Given the description of an element on the screen output the (x, y) to click on. 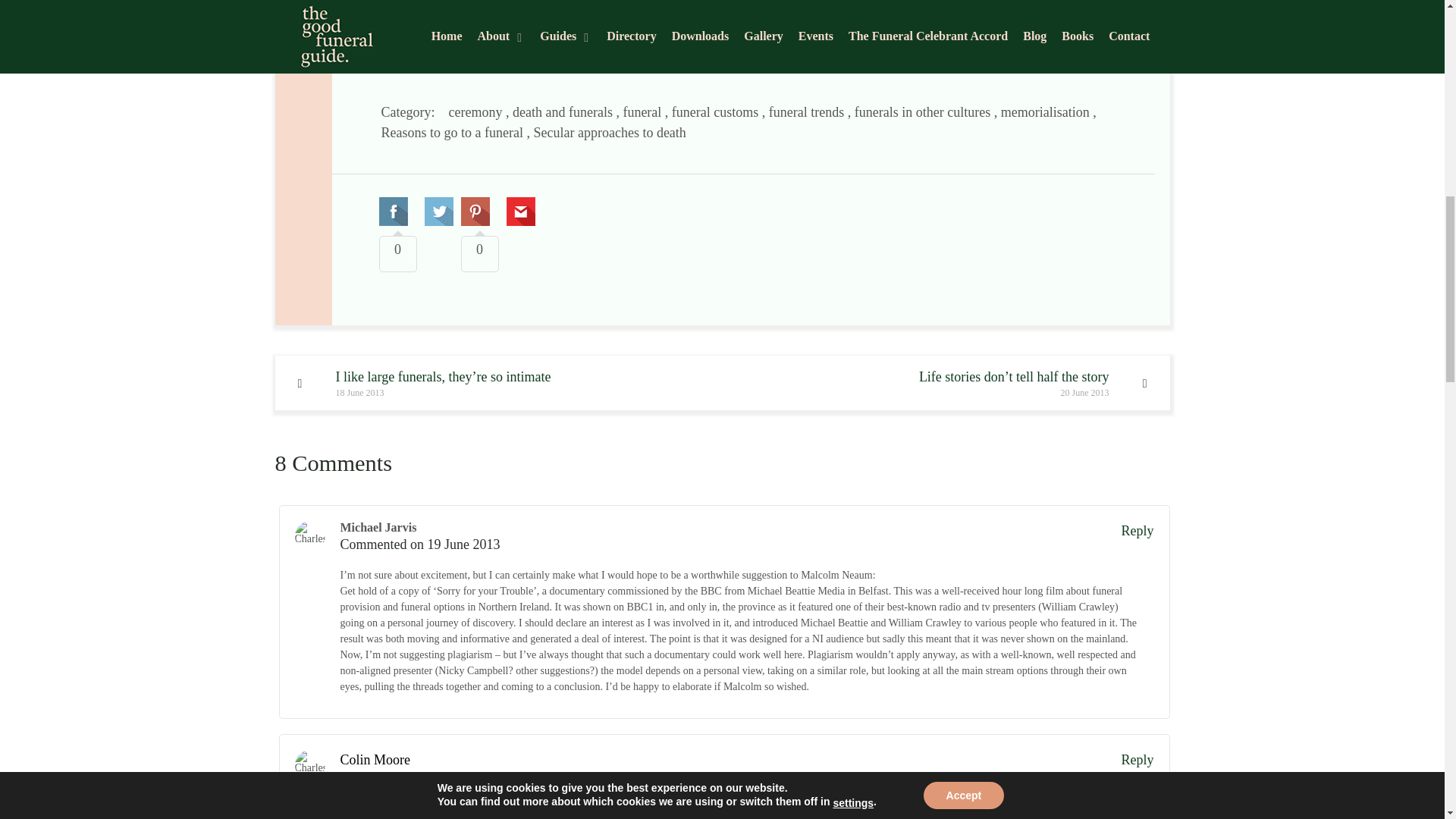
Charles (309, 535)
Charles (309, 765)
